Given the description of an element on the screen output the (x, y) to click on. 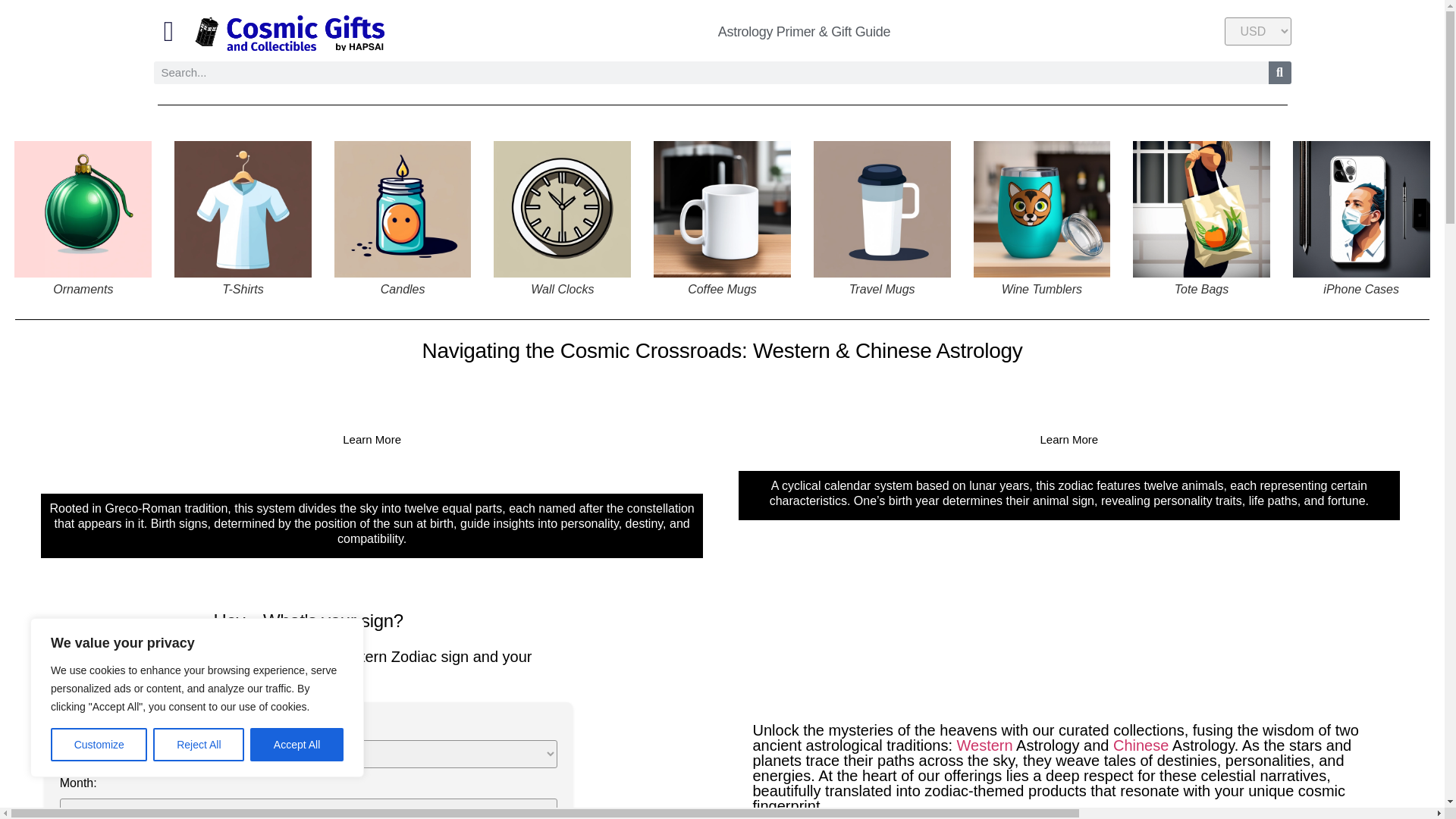
Reject All (198, 744)
Accept All (296, 744)
Customize (98, 744)
